Given the description of an element on the screen output the (x, y) to click on. 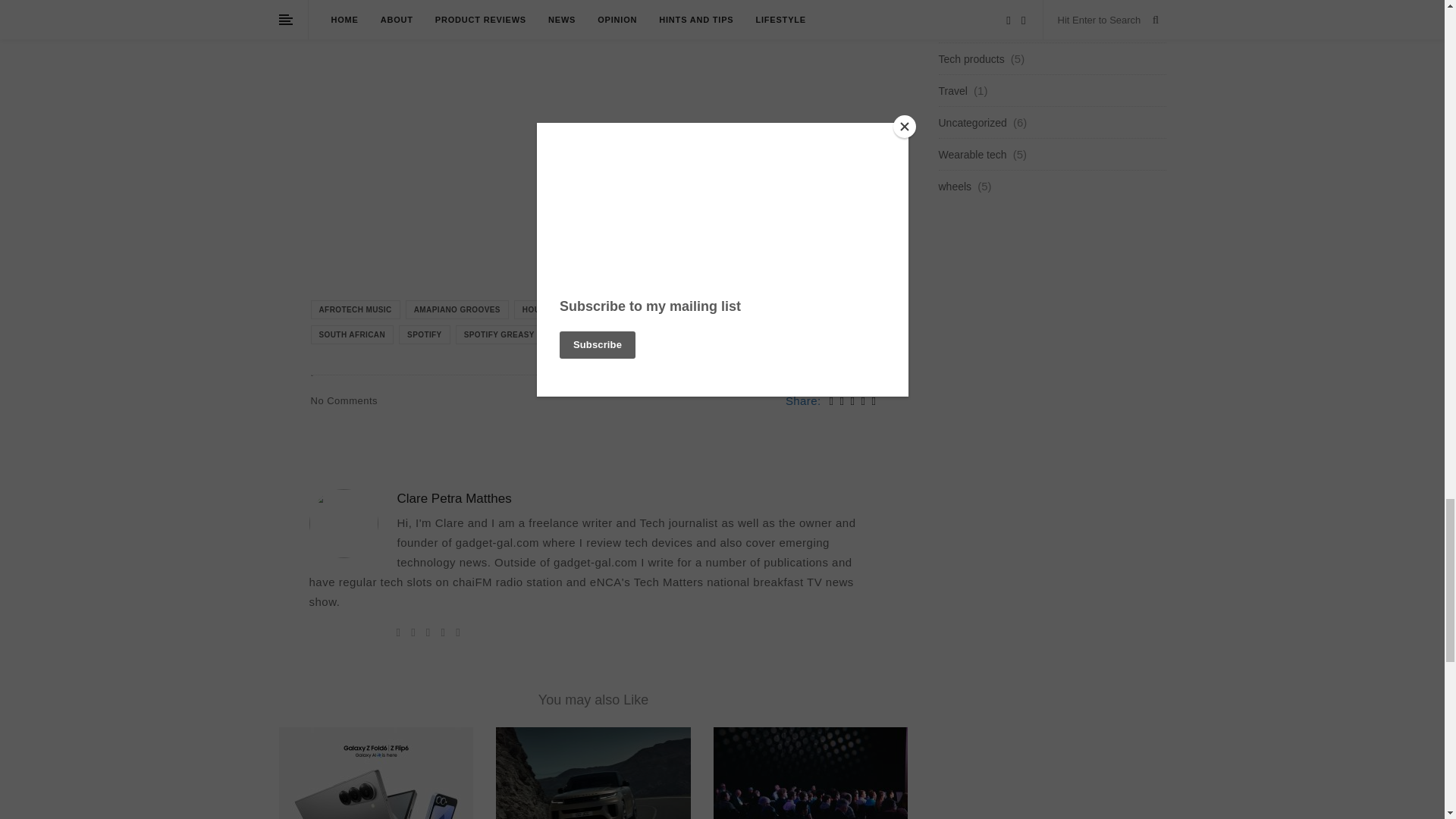
MZANSI RAPS (678, 309)
PAN-AFRICA (753, 309)
HOUSE MUSIC (550, 309)
SPOTIFY (423, 334)
Happy Birthday Spotify! while YouTube Music launches locally (390, 9)
Advertisement (593, 172)
AFROTECH MUSIC (355, 309)
AMAPIANO GROOVES (457, 309)
LOCAL (614, 309)
Happy Birthday Spotify! while YouTube Music launches locally (390, 9)
SOUTH AFRICAN (352, 334)
